Given the description of an element on the screen output the (x, y) to click on. 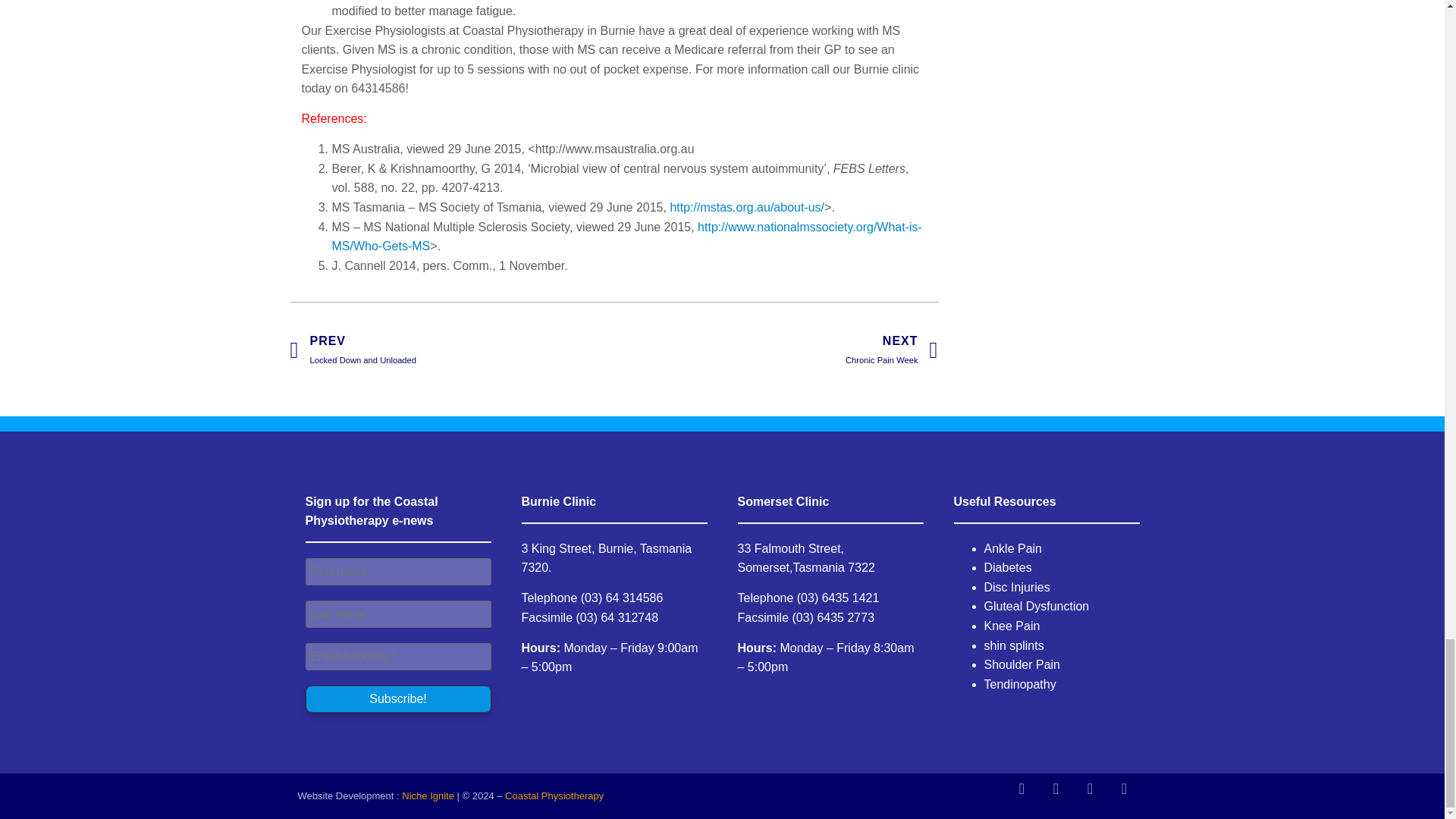
Subscribe! (397, 698)
First name (397, 571)
Last name (397, 614)
Niche Ignite - Web Design Tasmania (450, 350)
Email Address (775, 350)
